Given the description of an element on the screen output the (x, y) to click on. 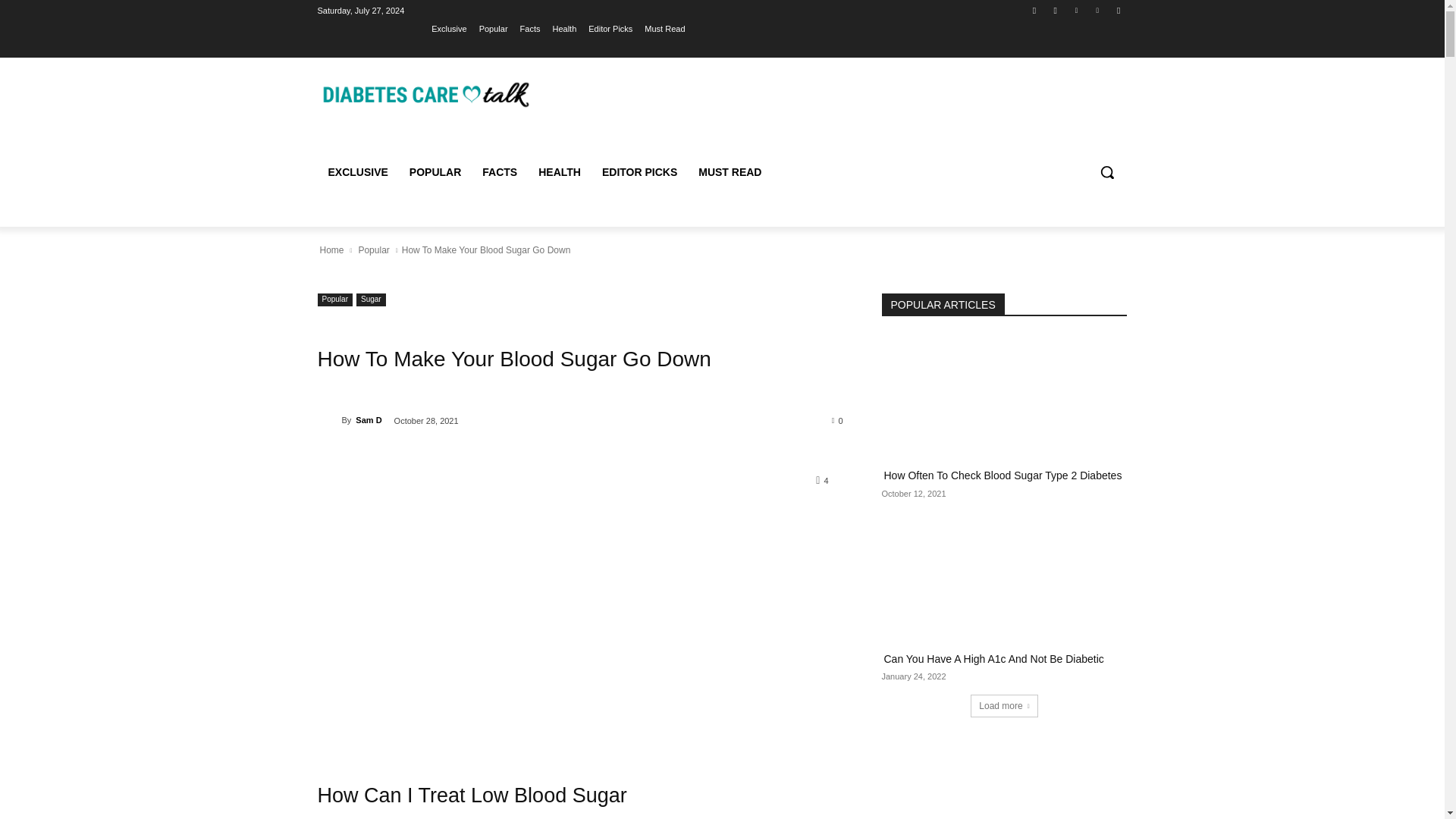
Popular (493, 28)
Home (331, 250)
Editor Picks (609, 28)
Vimeo (1097, 9)
Popular (334, 299)
Sam D (328, 419)
Instagram (1055, 9)
Popular (373, 250)
EDITOR PICKS (639, 171)
Youtube (1117, 9)
Must Read (664, 28)
Facts (529, 28)
Facebook (1034, 9)
Health (563, 28)
Twitter (1075, 9)
